Given the description of an element on the screen output the (x, y) to click on. 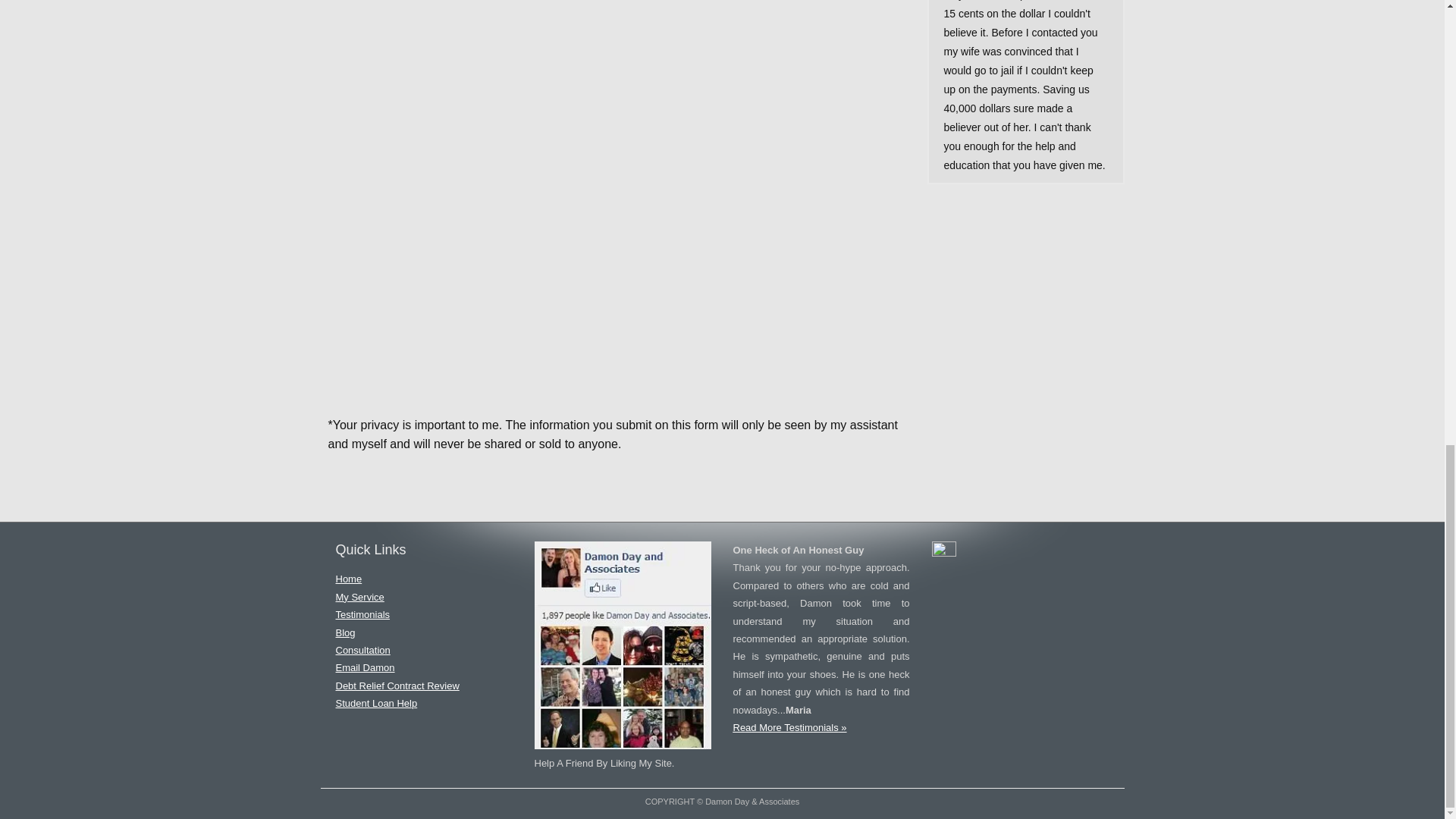
Student Loan Help (375, 703)
My Service (359, 596)
Consultation (362, 650)
Testimonials (362, 614)
Email Damon (364, 667)
Debt Relief Contract Review (396, 685)
Blog (344, 632)
Home (347, 578)
